Given the description of an element on the screen output the (x, y) to click on. 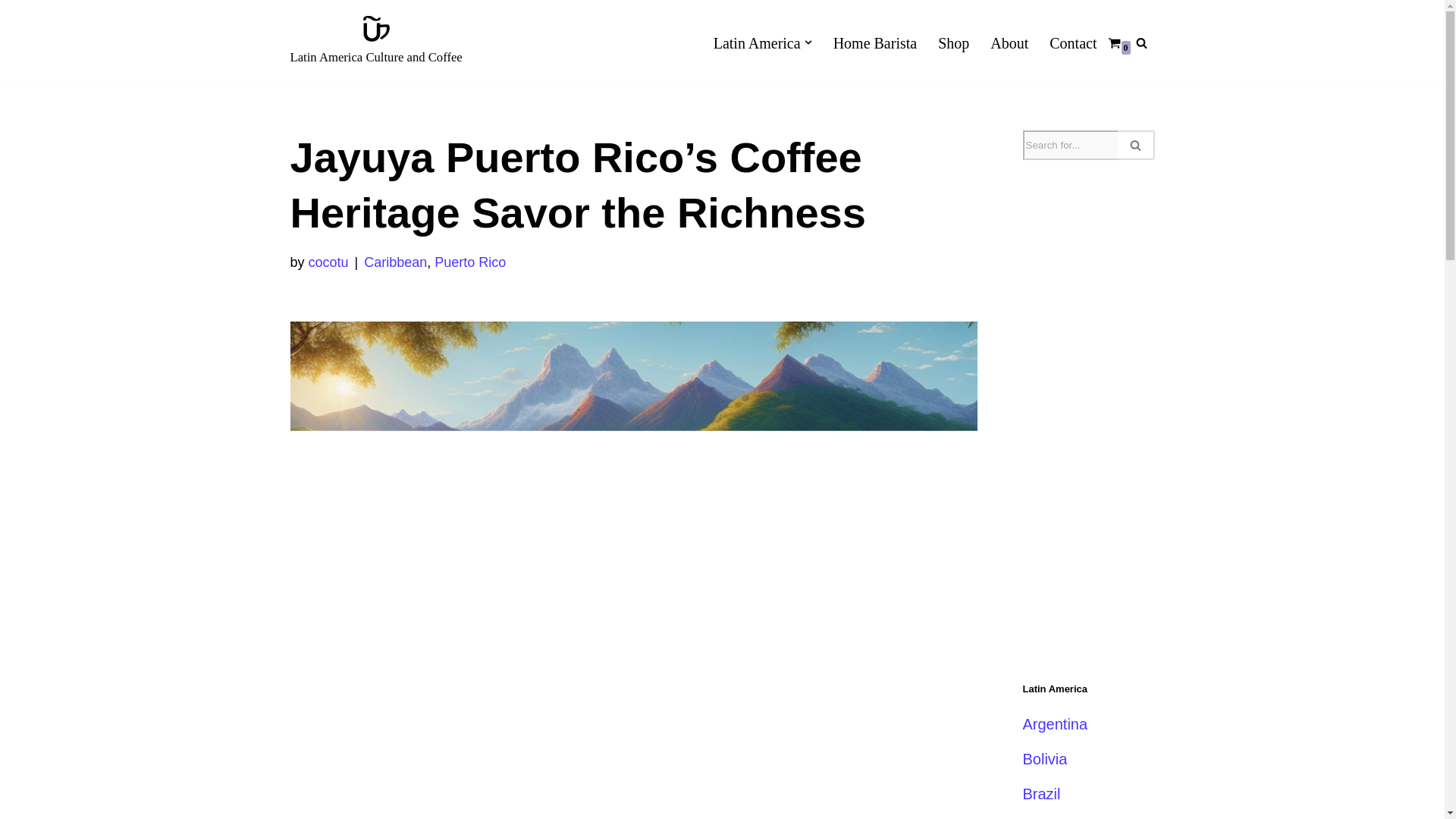
About (1008, 42)
Contact (1072, 42)
Latin America (756, 42)
Skip to content (11, 31)
0 (1112, 42)
Shop (953, 42)
Posts by cocotu (328, 262)
Latin America Culture and Coffee (375, 42)
Home Barista (874, 42)
